Given the description of an element on the screen output the (x, y) to click on. 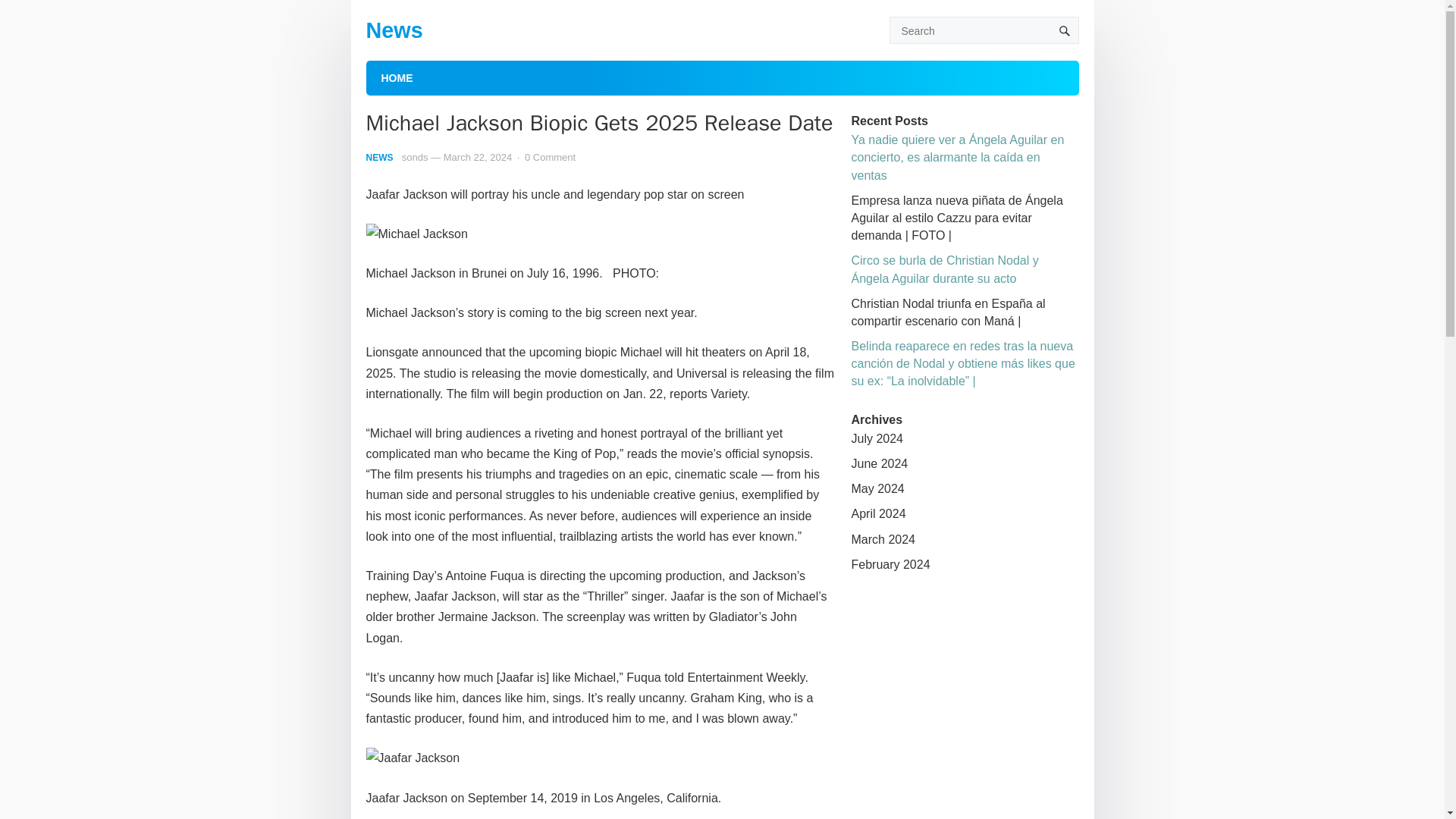
HOME (396, 77)
NEWS (379, 157)
July 2024 (876, 438)
March 2024 (882, 539)
sonds (414, 156)
February 2024 (890, 563)
April 2024 (877, 513)
May 2024 (877, 488)
News (393, 30)
0 Comment (549, 156)
June 2024 (878, 463)
Posts by sonds (414, 156)
